Given the description of an element on the screen output the (x, y) to click on. 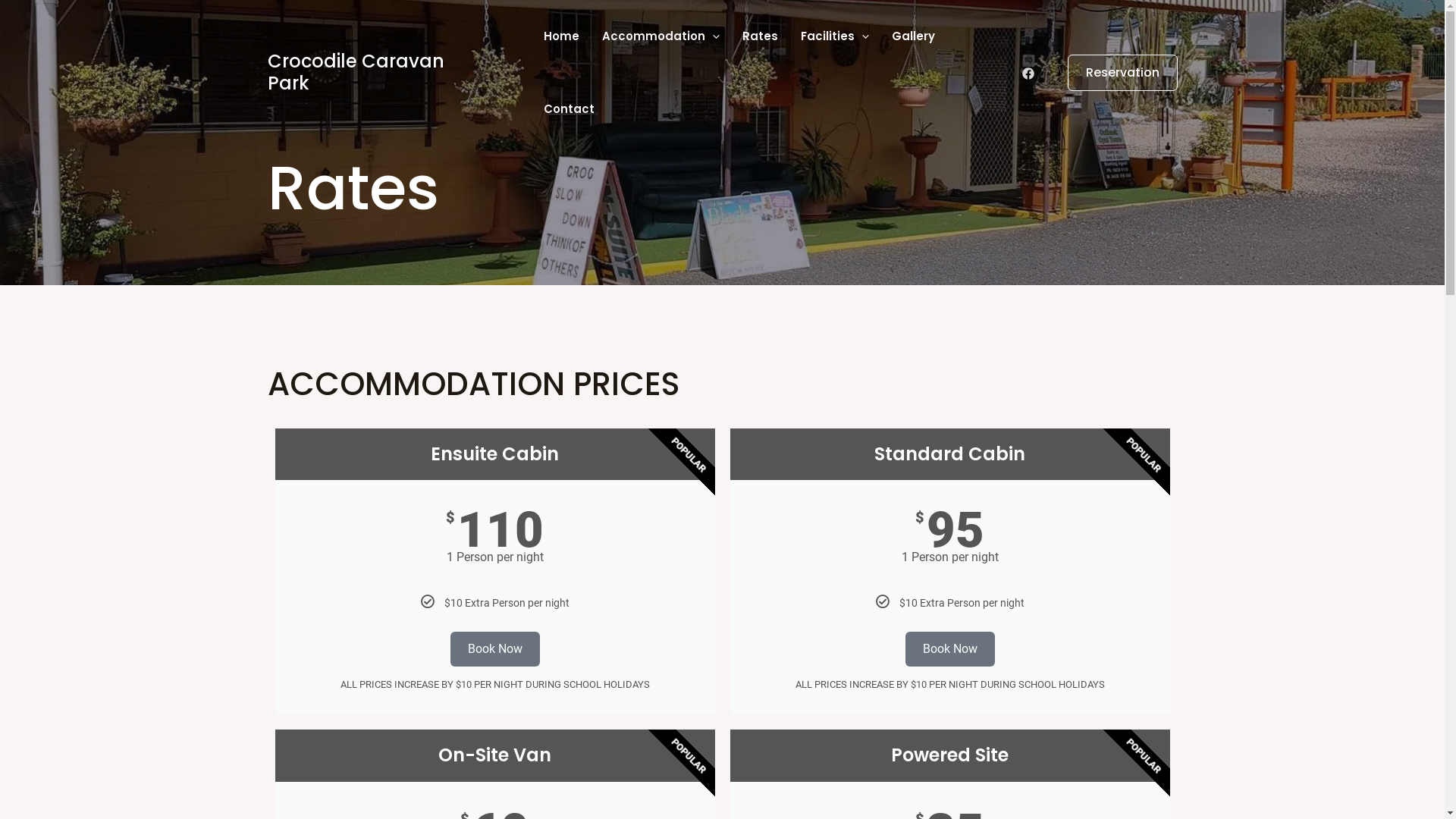
Facilities Element type: text (834, 36)
Reservation Element type: text (1113, 72)
Rates Element type: text (760, 36)
Home Element type: text (561, 36)
Gallery Element type: text (913, 36)
Contact Element type: text (568, 108)
Accommodation Element type: text (660, 36)
Book Now Element type: text (494, 648)
Book Now Element type: text (949, 648)
Crocodile Caravan Park Element type: text (354, 71)
